Given the description of an element on the screen output the (x, y) to click on. 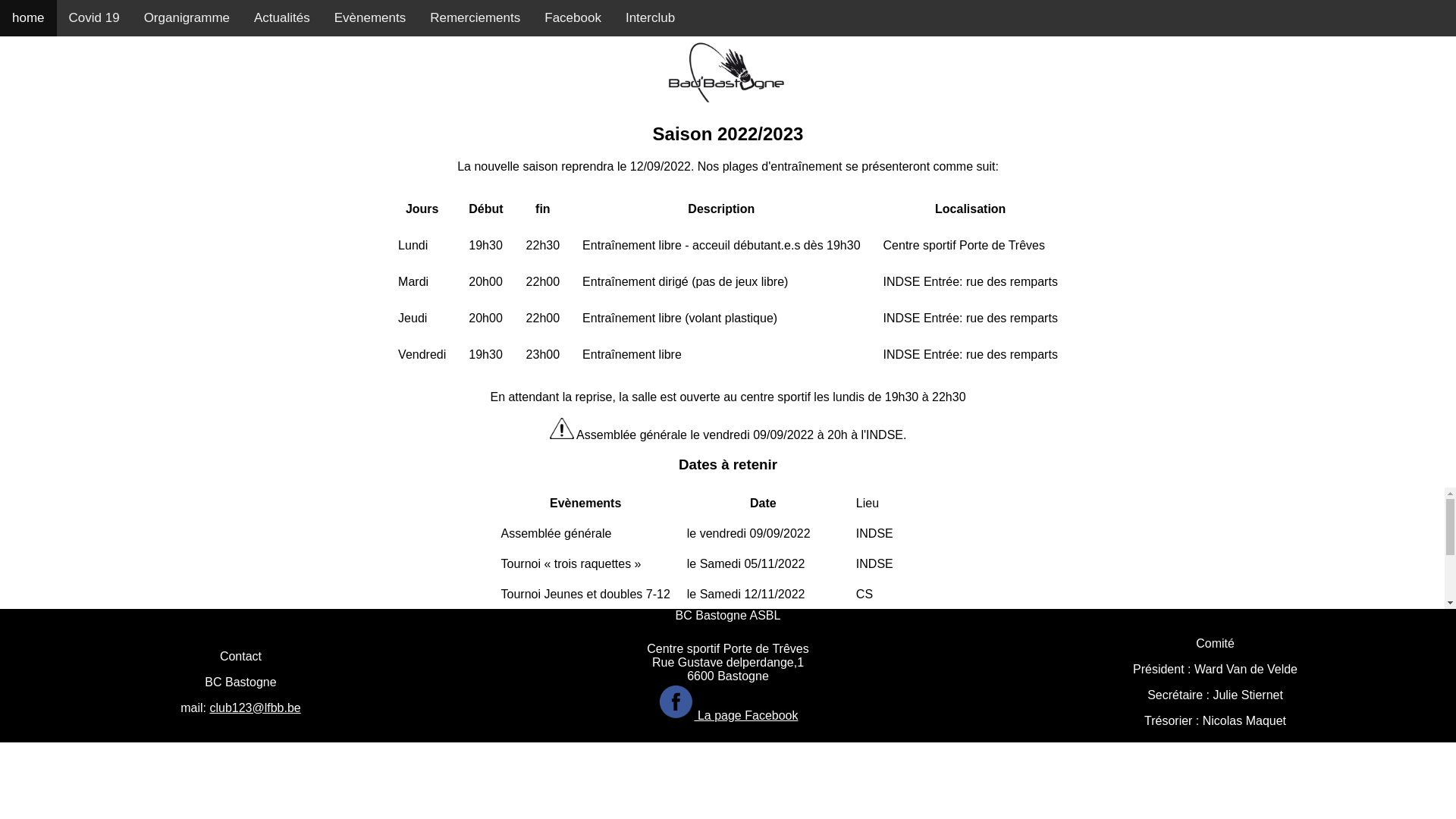
Organigramme Element type: text (186, 18)
Facebook Element type: text (572, 18)
Remerciements Element type: text (474, 18)
club123@lfbb.be Element type: text (254, 707)
Covid 19 Element type: text (93, 18)
home Element type: text (28, 18)
La page Facebook Element type: text (727, 715)
Interclub Element type: text (650, 18)
